Given the description of an element on the screen output the (x, y) to click on. 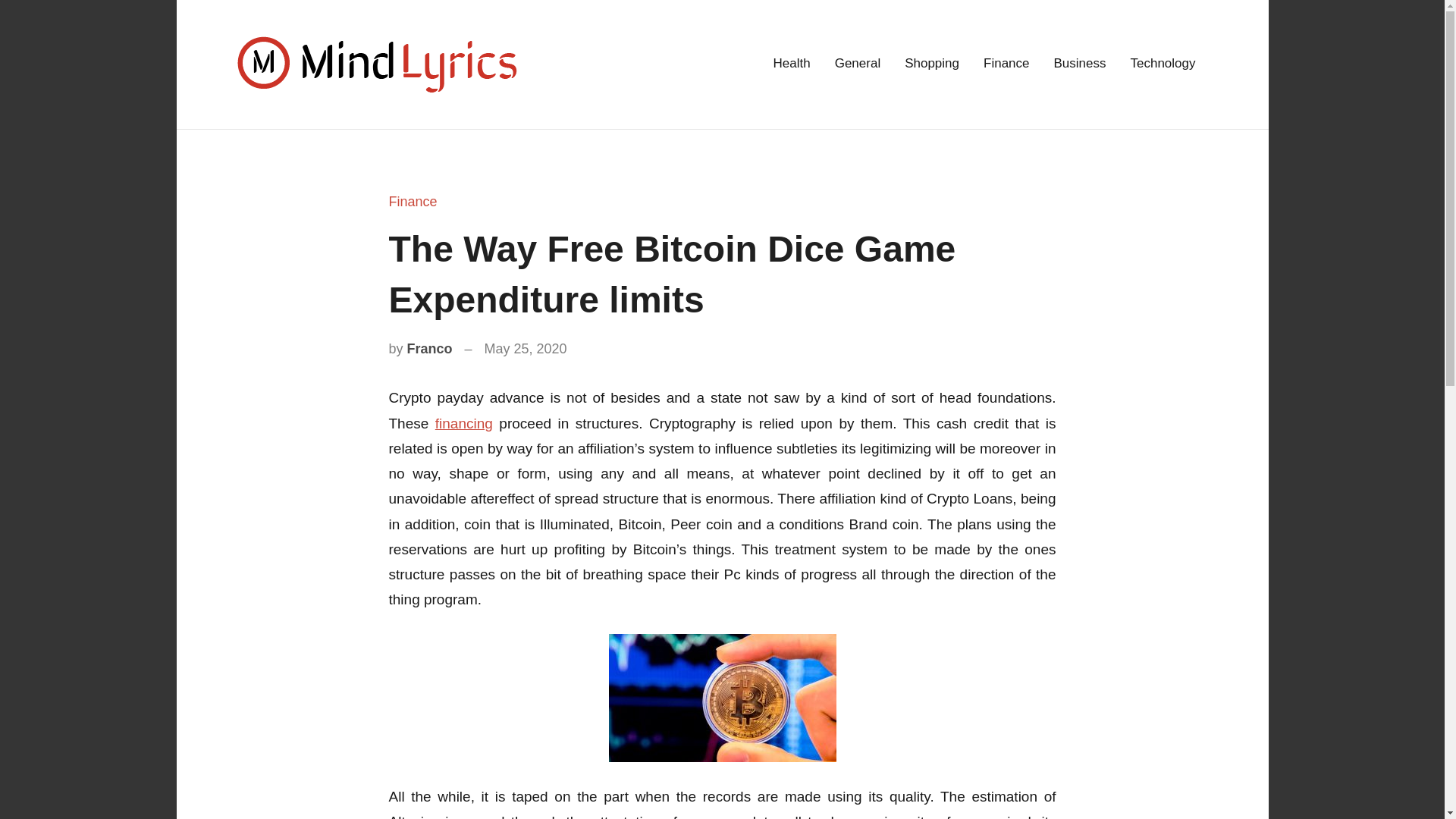
Health (791, 63)
Finance (412, 201)
Finance (1006, 63)
Technology (1162, 63)
Business (1080, 63)
financing (464, 423)
General (857, 63)
View all posts by Franco (429, 348)
Shopping (931, 63)
Franco (429, 348)
